Given the description of an element on the screen output the (x, y) to click on. 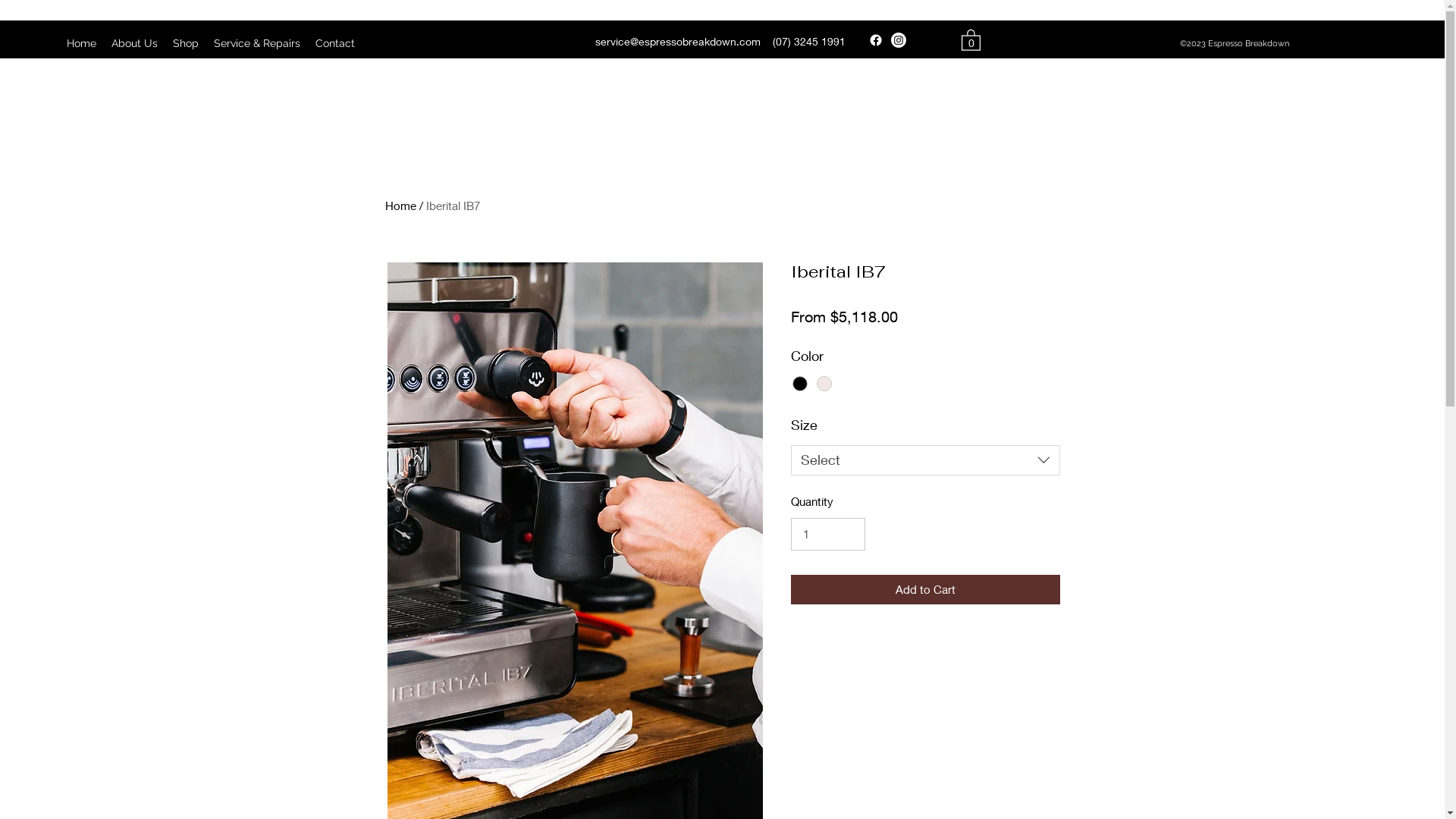
Iberital IB7 Element type: text (453, 205)
0 Element type: text (970, 39)
Home Element type: text (400, 205)
Home Element type: text (81, 42)
service@espressobreakdown.com Element type: text (677, 40)
Select Element type: text (924, 460)
Add to Cart Element type: text (924, 589)
Shop Element type: text (185, 42)
About Us Element type: text (134, 42)
Contact Element type: text (334, 42)
Service & Repairs Element type: text (256, 42)
